Given the description of an element on the screen output the (x, y) to click on. 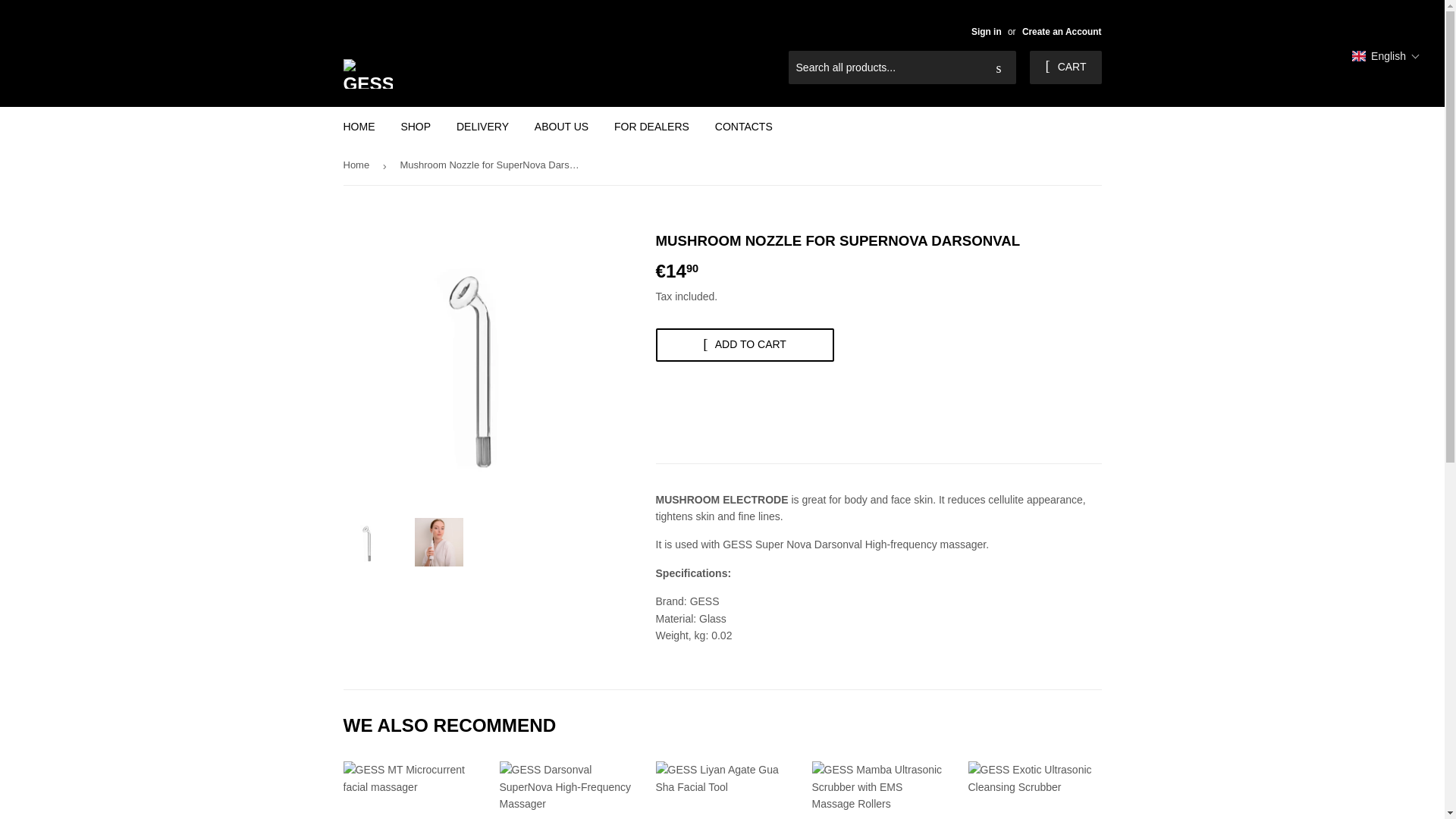
ADD TO CART (743, 344)
Search (998, 68)
CONTACTS (743, 126)
DELIVERY (482, 126)
Create an Account (1062, 31)
HOME (359, 126)
FOR DEALERS (651, 126)
SHOP (415, 126)
ABOUT US (560, 126)
CART (1064, 67)
